Given the description of an element on the screen output the (x, y) to click on. 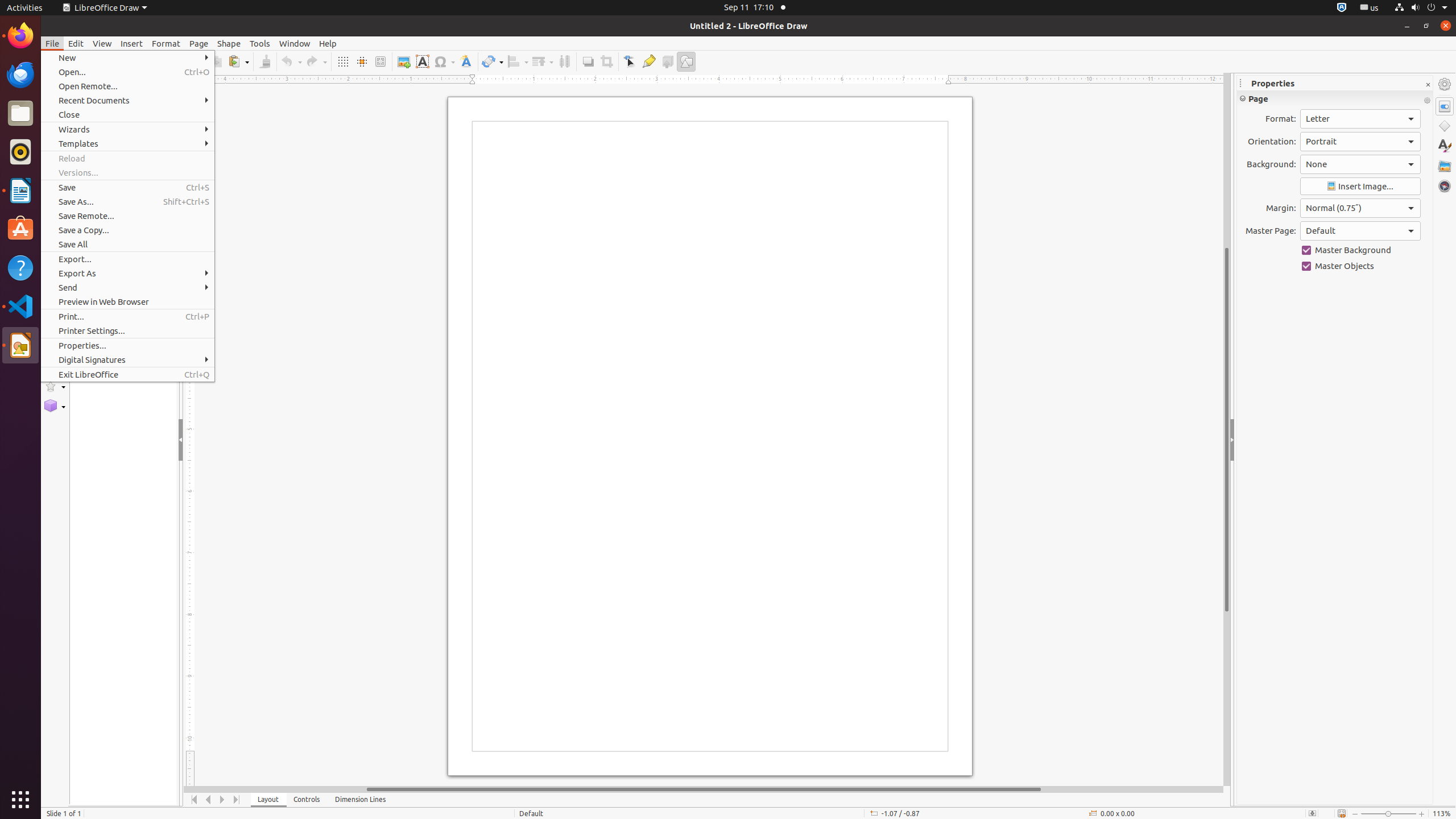
Print... Element type: menu-item (127, 316)
Move Left Element type: push-button (208, 799)
Format: Element type: combo-box (1360, 118)
Rectangle Element type: push-button (53, 178)
Horizontal Ruler Element type: ruler (703, 79)
